Given the description of an element on the screen output the (x, y) to click on. 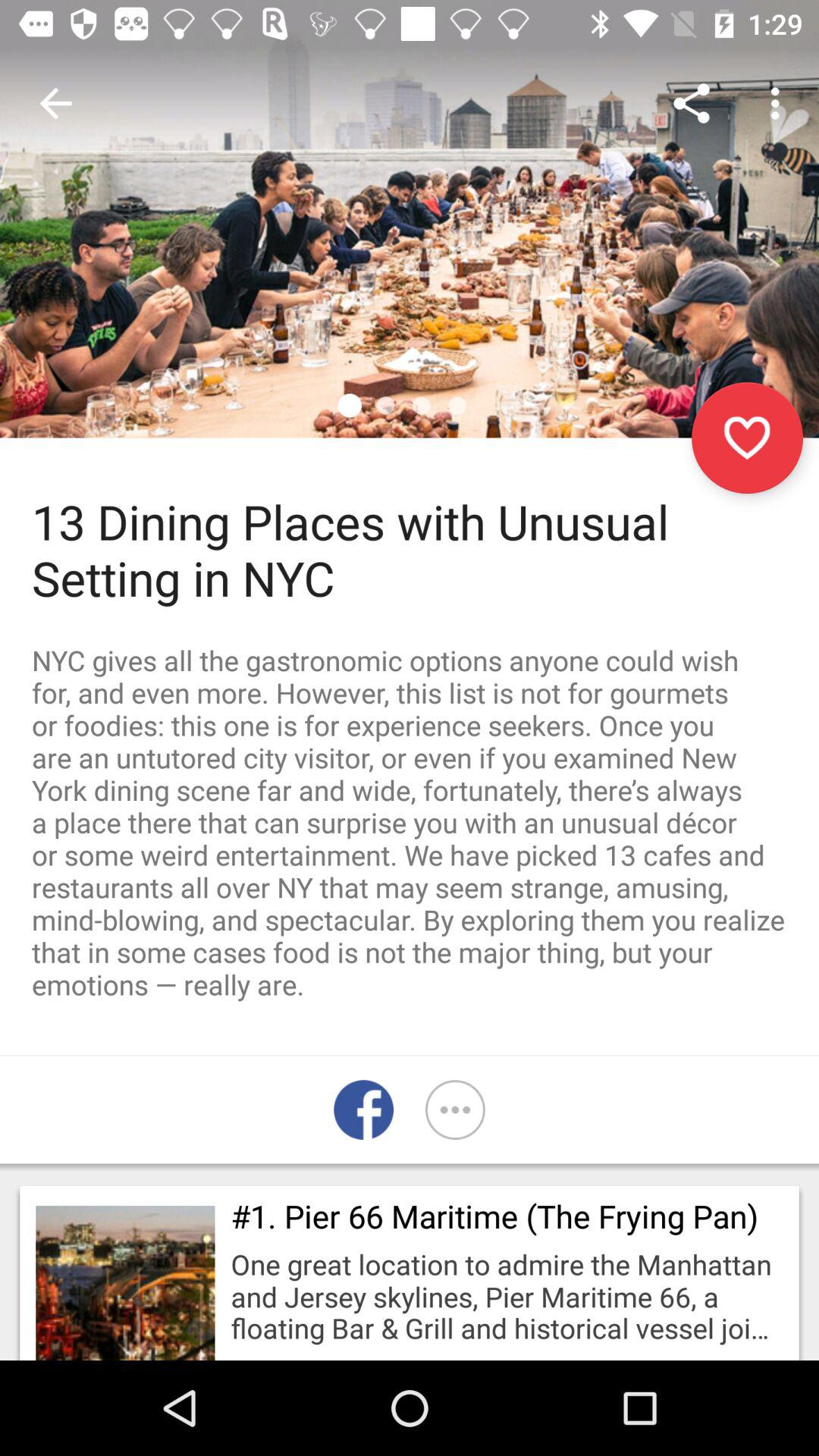
go to facebook page (363, 1109)
